Given the description of an element on the screen output the (x, y) to click on. 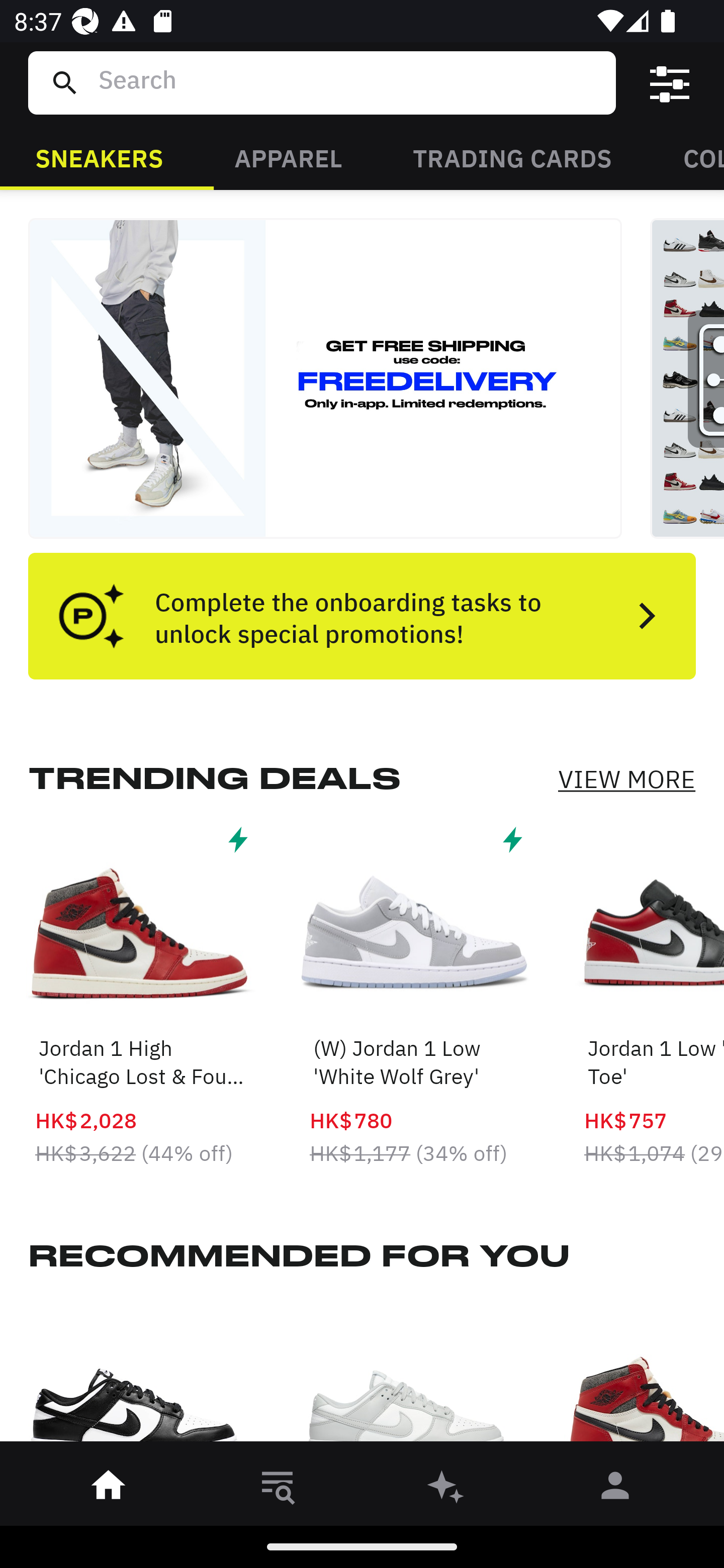
Search (349, 82)
 (669, 82)
SNEAKERS (99, 156)
APPAREL (287, 156)
TRADING CARDS (512, 156)
VIEW MORE (626, 779)
󰋜 (108, 1488)
󱎸 (277, 1488)
󰫢 (446, 1488)
󰀄 (615, 1488)
